Given the description of an element on the screen output the (x, y) to click on. 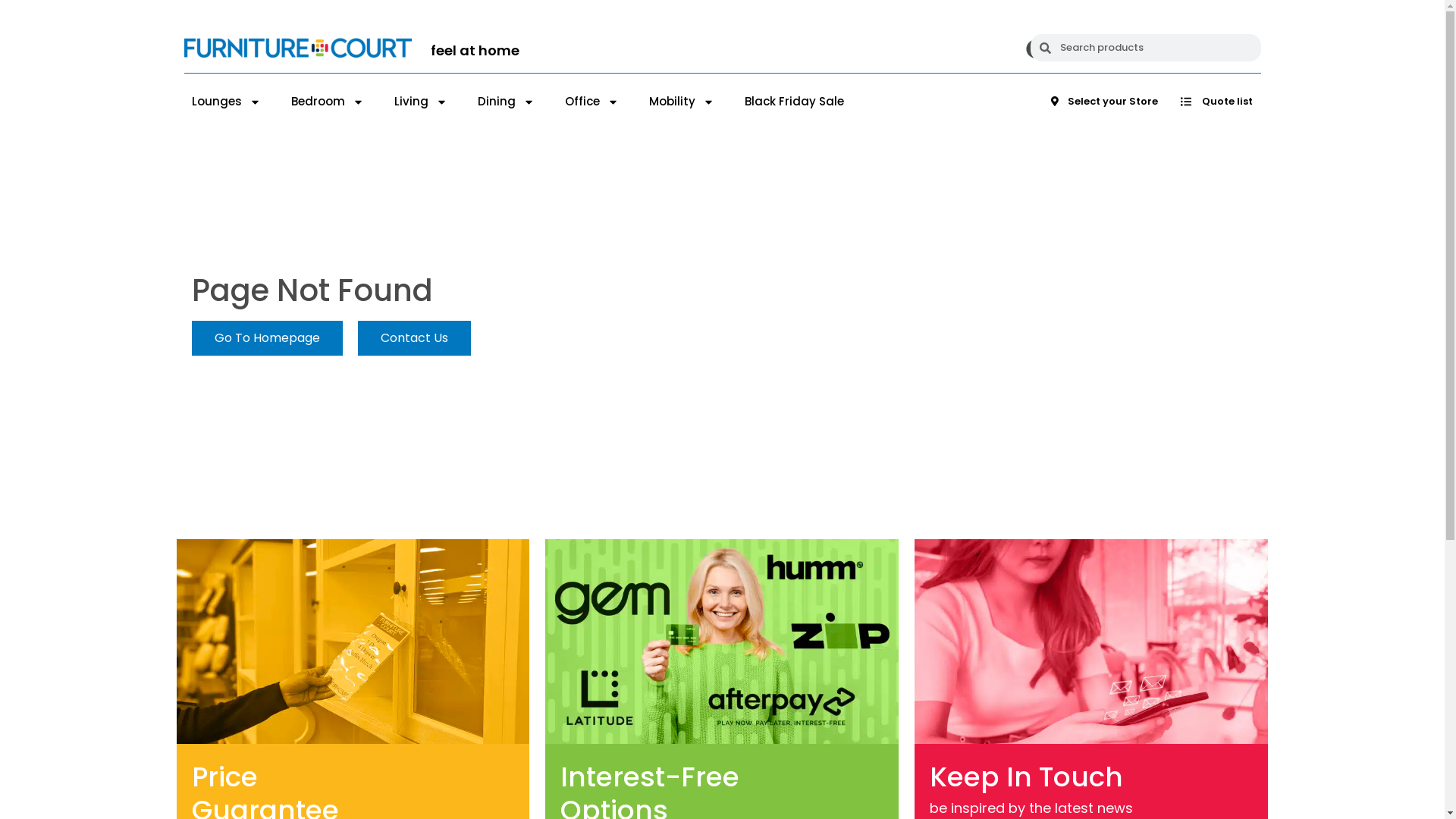
Keep In Touch Element type: text (1037, 776)
Dining Element type: text (505, 101)
Quote list Element type: text (1216, 101)
Select your Store Element type: text (1104, 101)
Mobility Element type: text (681, 101)
Living Element type: text (420, 101)
Black Friday Sale Element type: text (794, 101)
Office Element type: text (591, 101)
Contact Us Element type: text (413, 337)
Lounges Element type: text (225, 101)
Bedroom Element type: text (327, 101)
Go To Homepage Element type: text (266, 337)
